Given the description of an element on the screen output the (x, y) to click on. 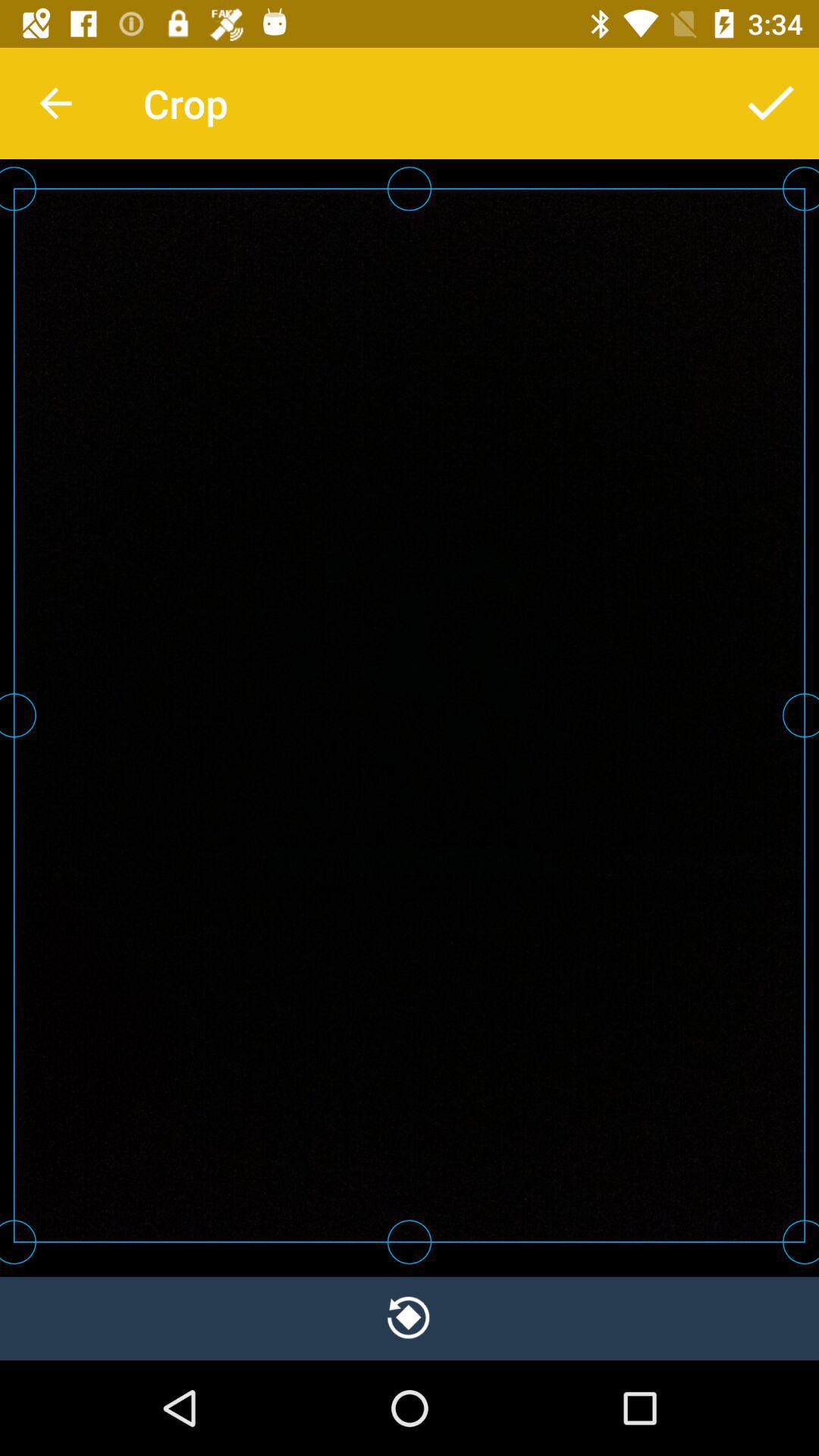
rotate left (409, 1318)
